Given the description of an element on the screen output the (x, y) to click on. 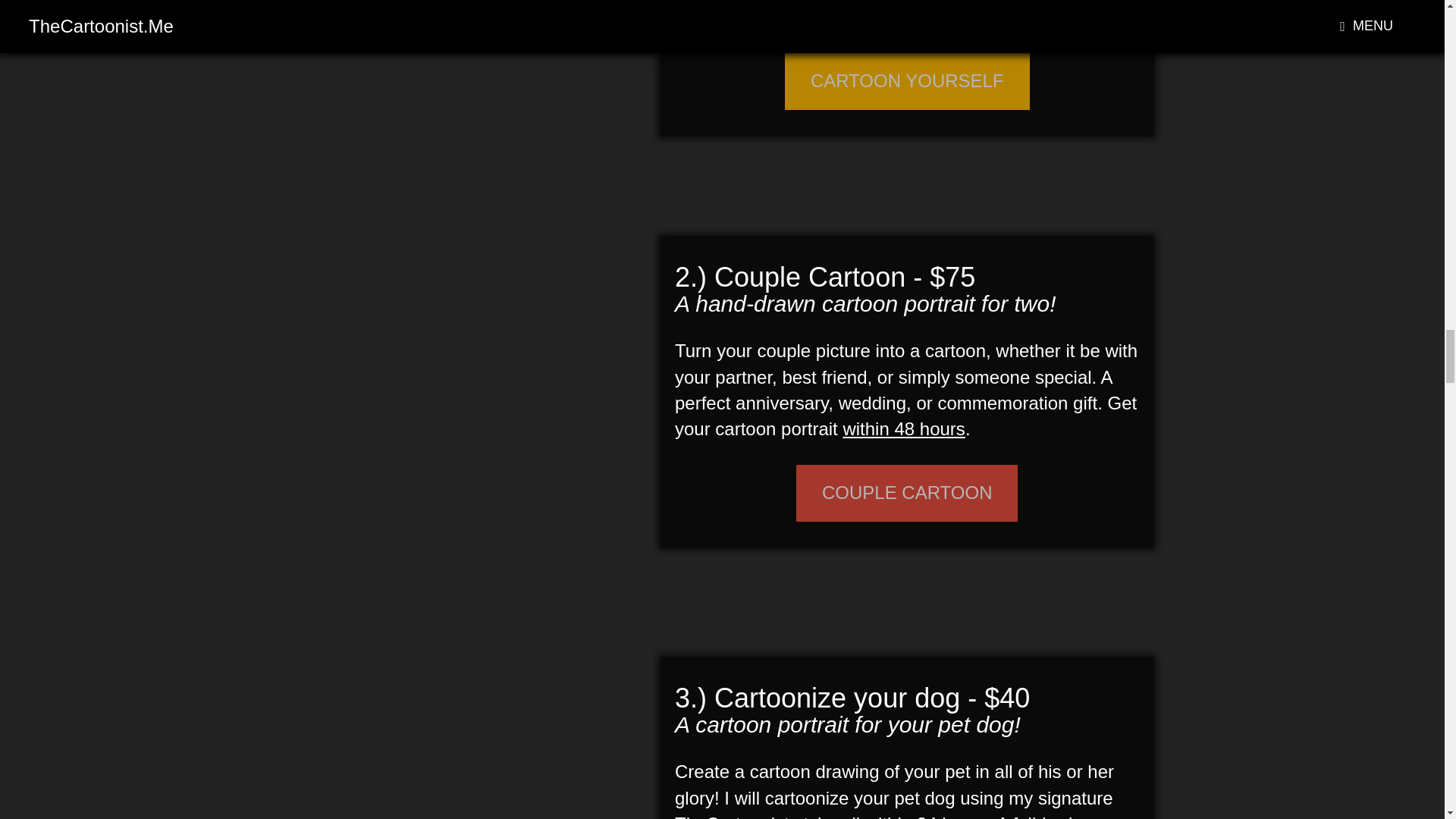
COUPLE CARTOON (906, 492)
CARTOON YOURSELF (906, 80)
